Given the description of an element on the screen output the (x, y) to click on. 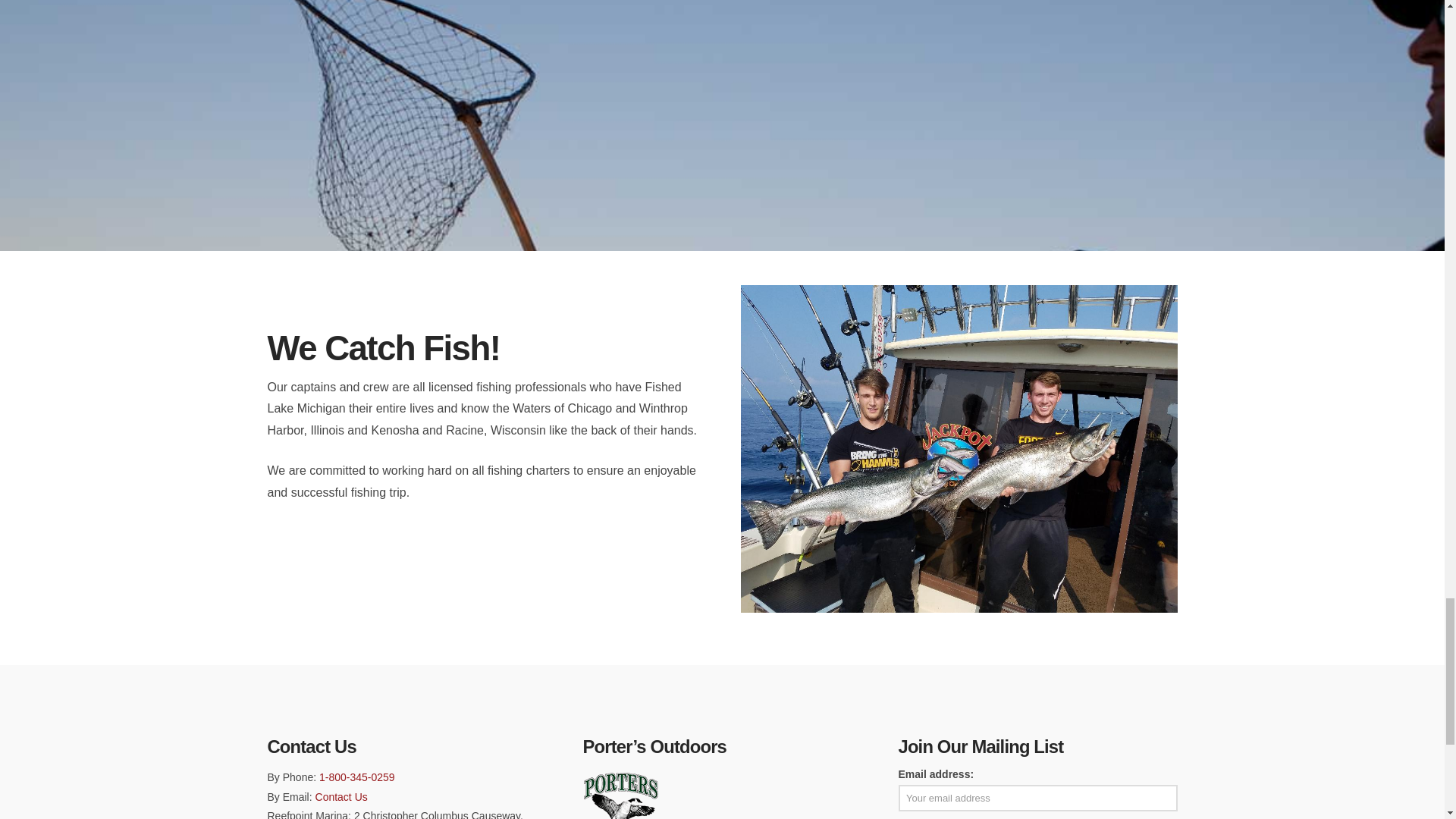
1-800-345-0259 (356, 776)
Contact Us (341, 797)
